Given the description of an element on the screen output the (x, y) to click on. 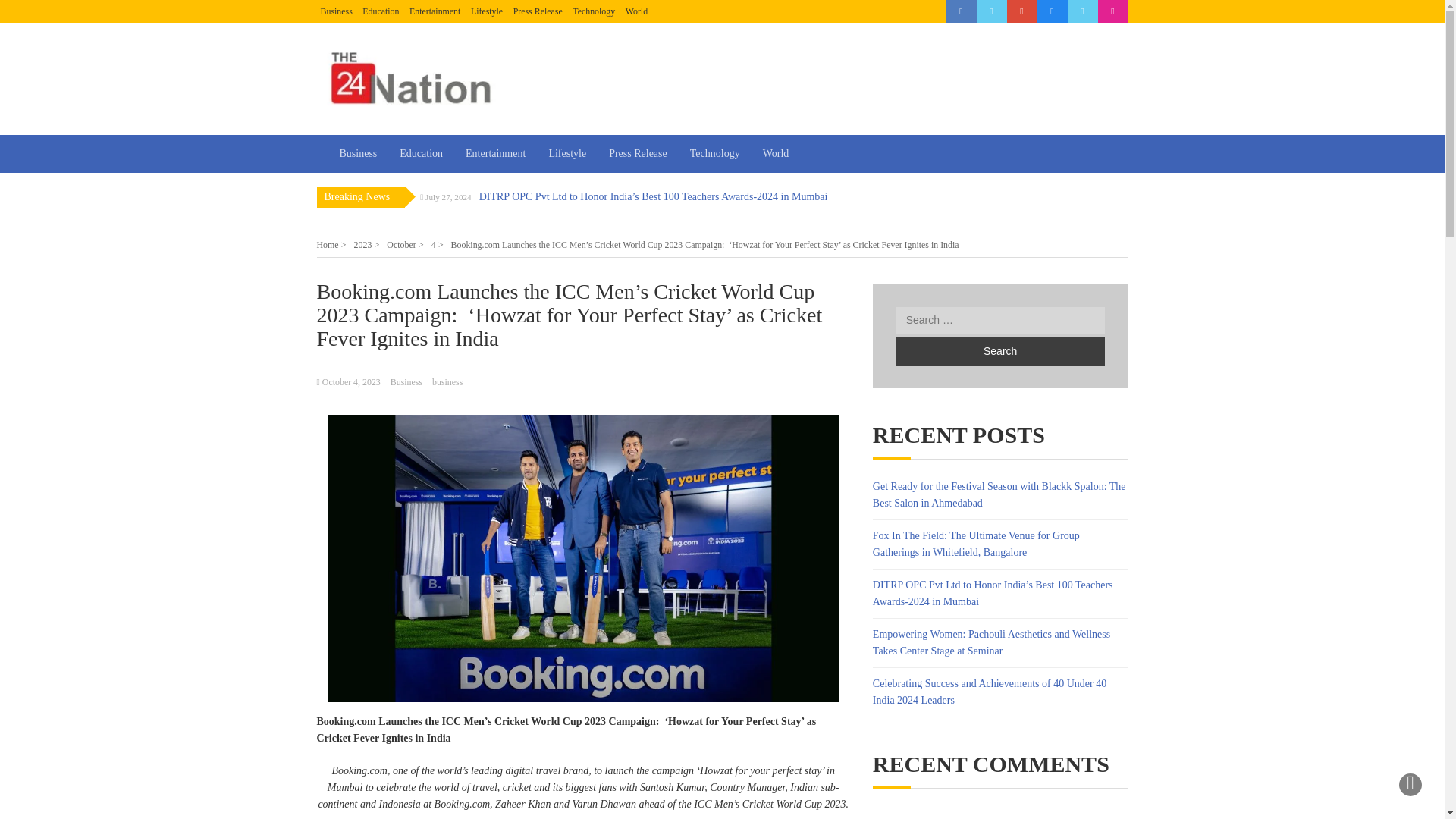
Technology (593, 10)
Lifestyle (486, 10)
Press Release (537, 10)
4 (437, 244)
Press Release (537, 10)
Education (421, 153)
Home (331, 244)
Business (357, 153)
Press Release (637, 153)
World (775, 153)
Education (380, 10)
Search (1000, 351)
Business (336, 10)
World (636, 10)
World (636, 10)
